Given the description of an element on the screen output the (x, y) to click on. 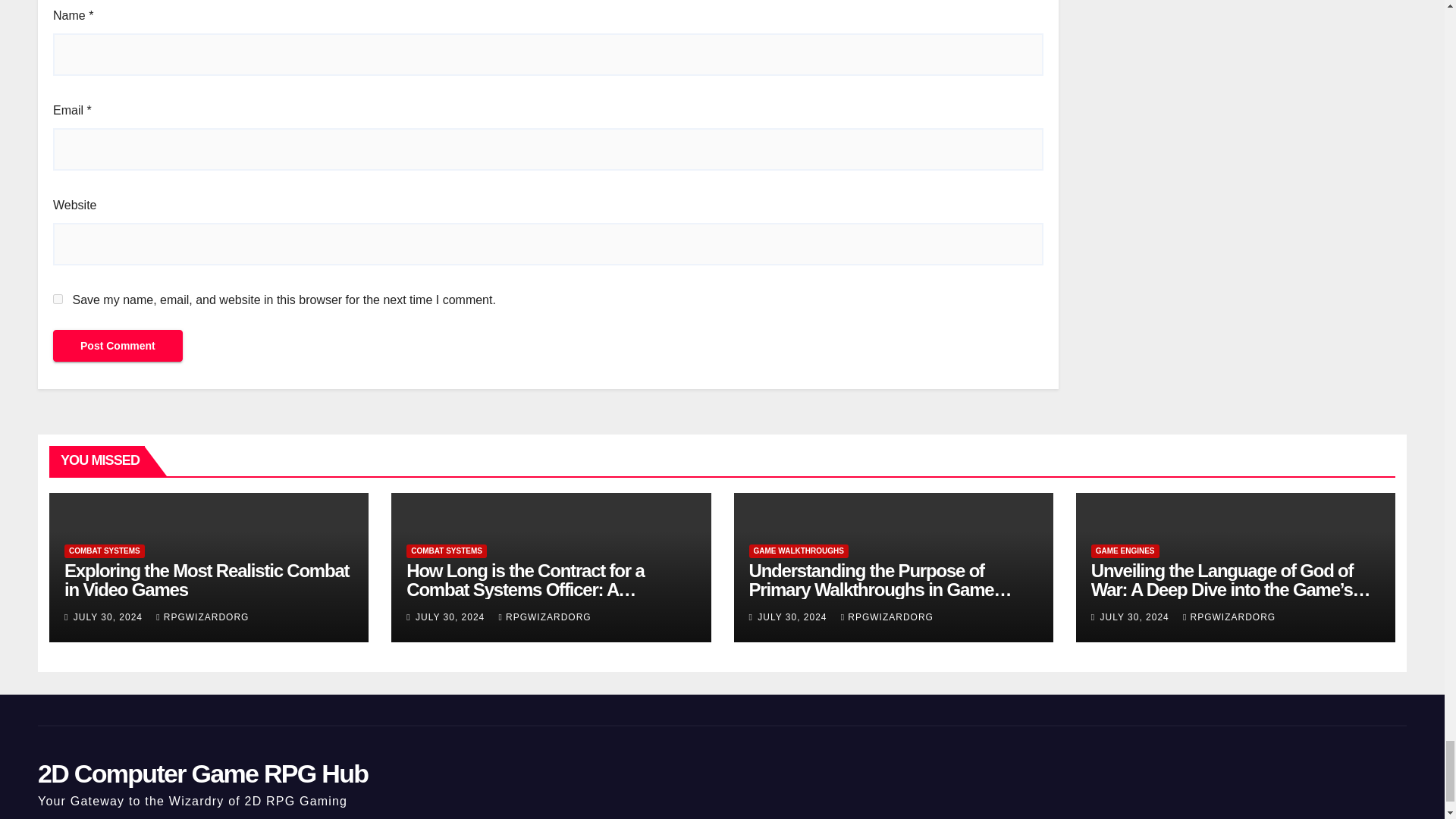
yes (57, 298)
Post Comment (117, 345)
